Given the description of an element on the screen output the (x, y) to click on. 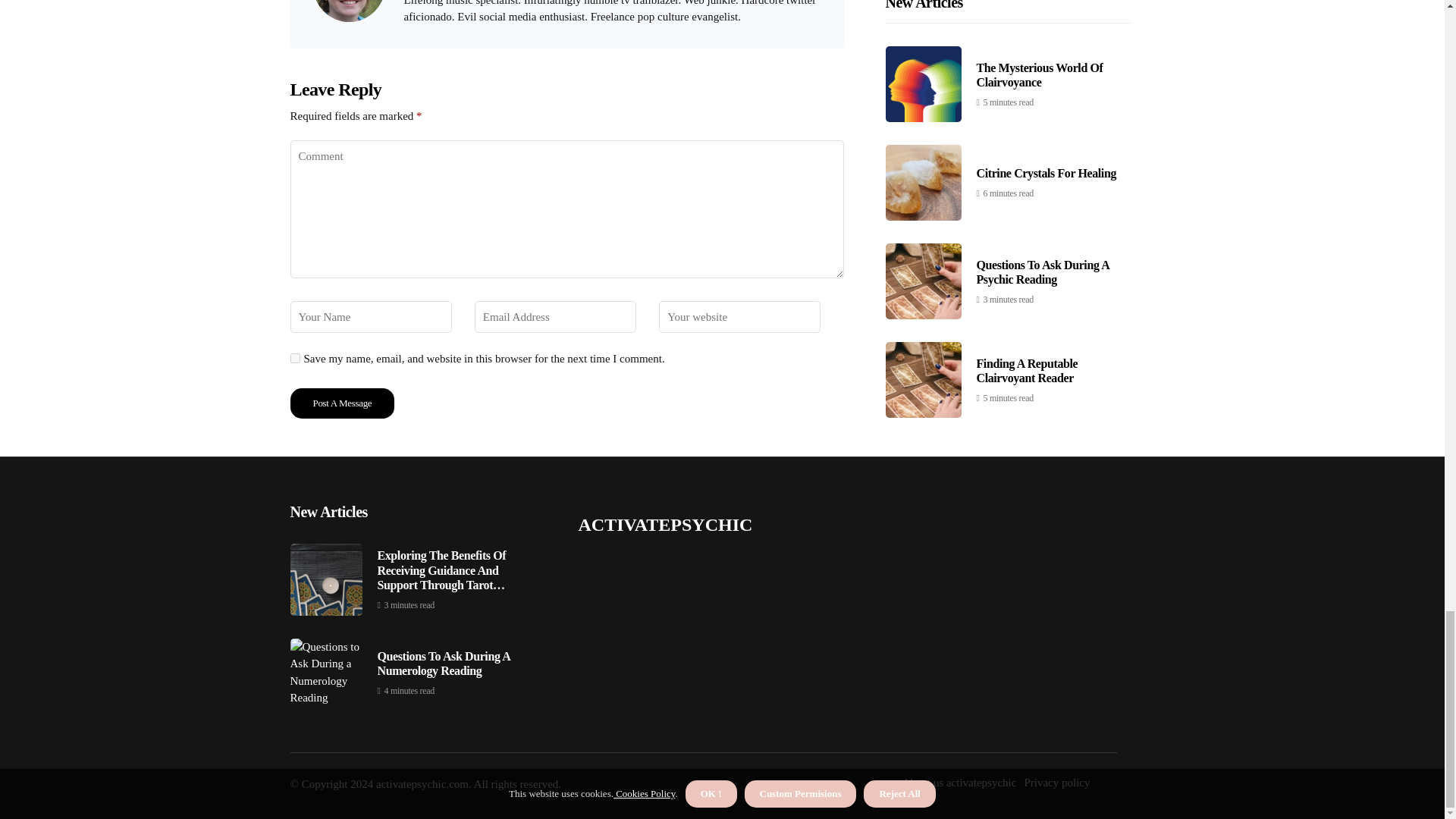
Post a Message (341, 403)
yes (294, 357)
